Given the description of an element on the screen output the (x, y) to click on. 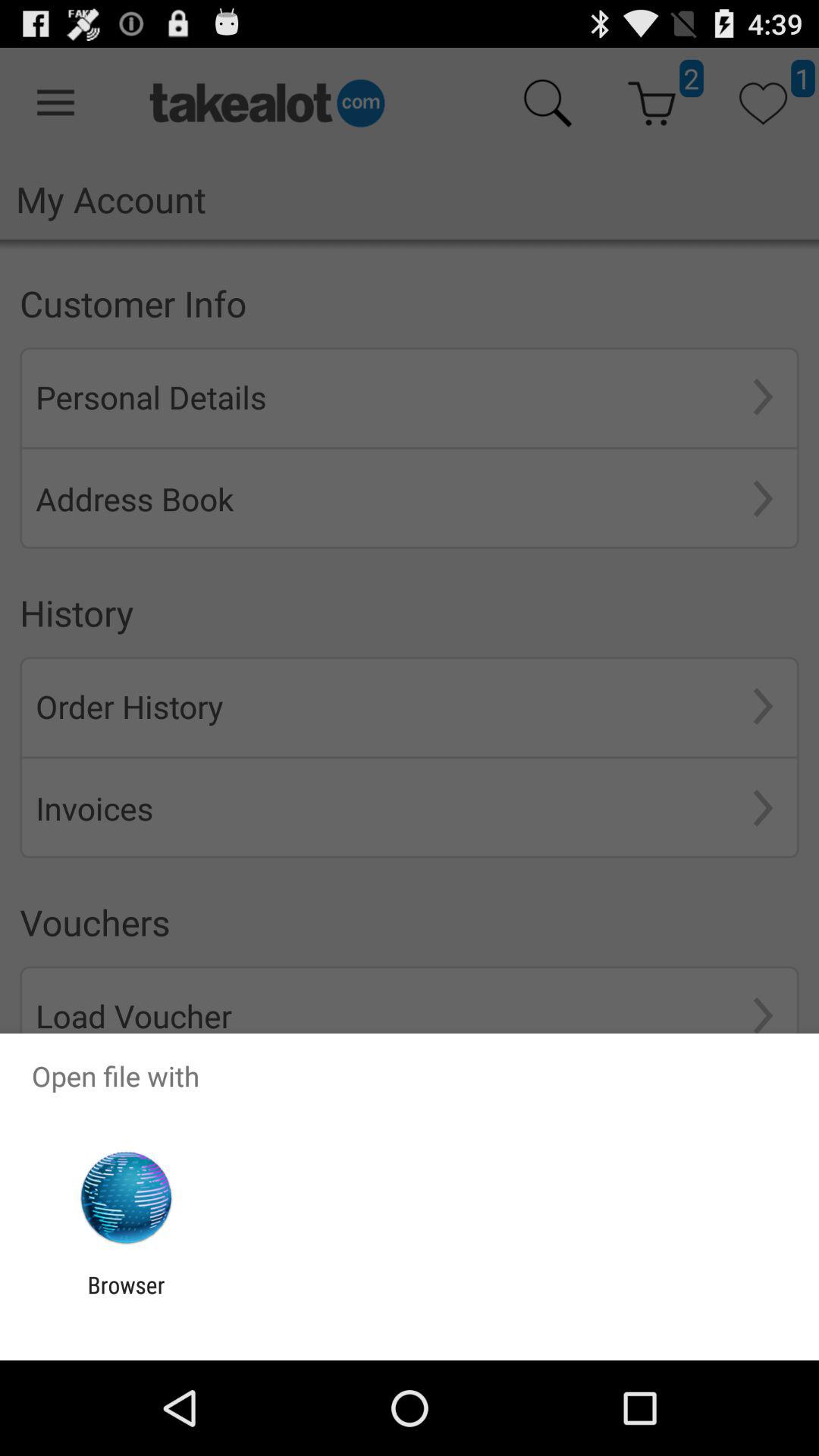
turn off item below open file with item (126, 1198)
